Given the description of an element on the screen output the (x, y) to click on. 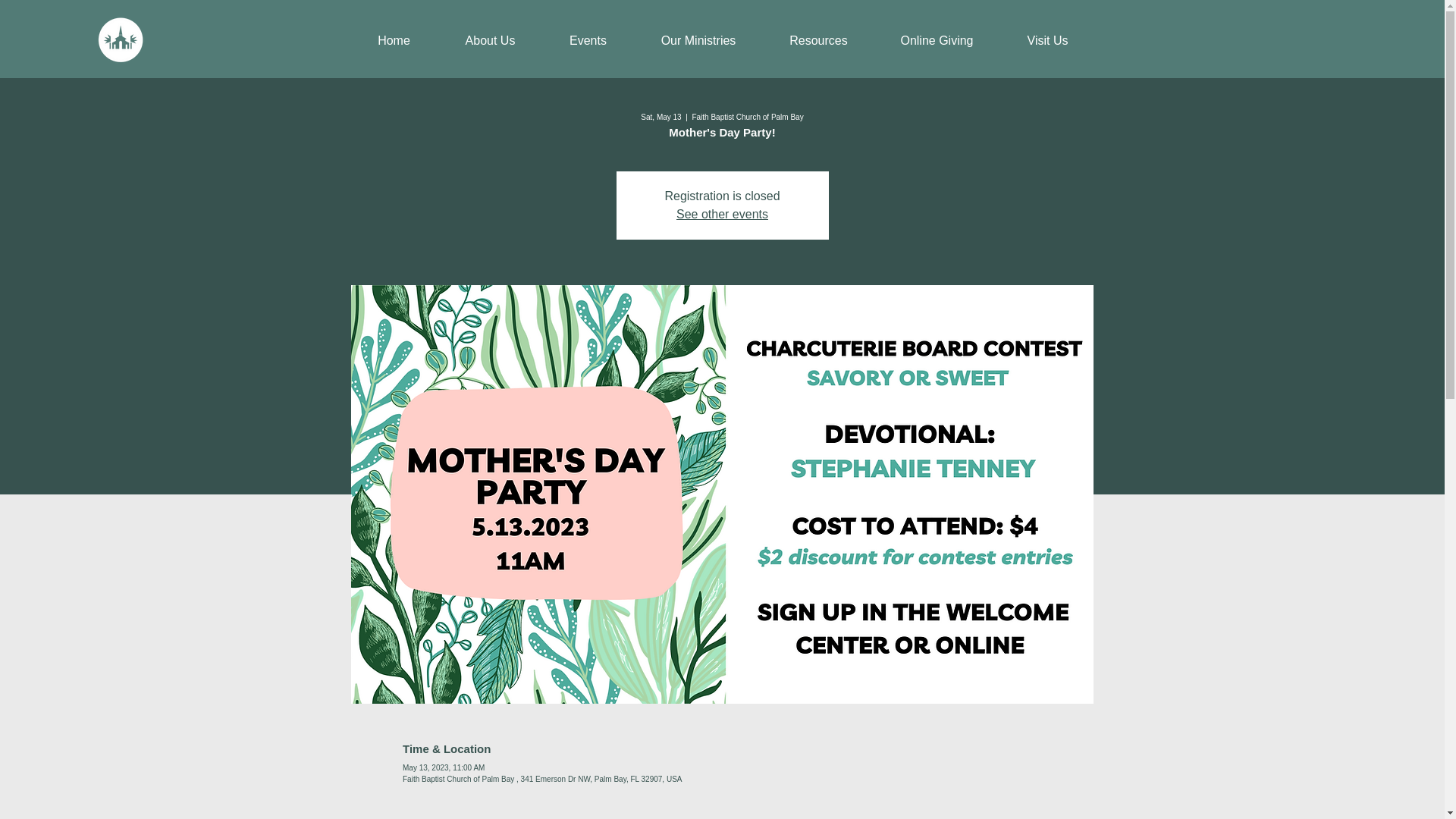
Home (393, 40)
Visit Us (1047, 40)
Resources (818, 40)
Events (587, 40)
Online Giving (937, 40)
See other events (722, 214)
